Given the description of an element on the screen output the (x, y) to click on. 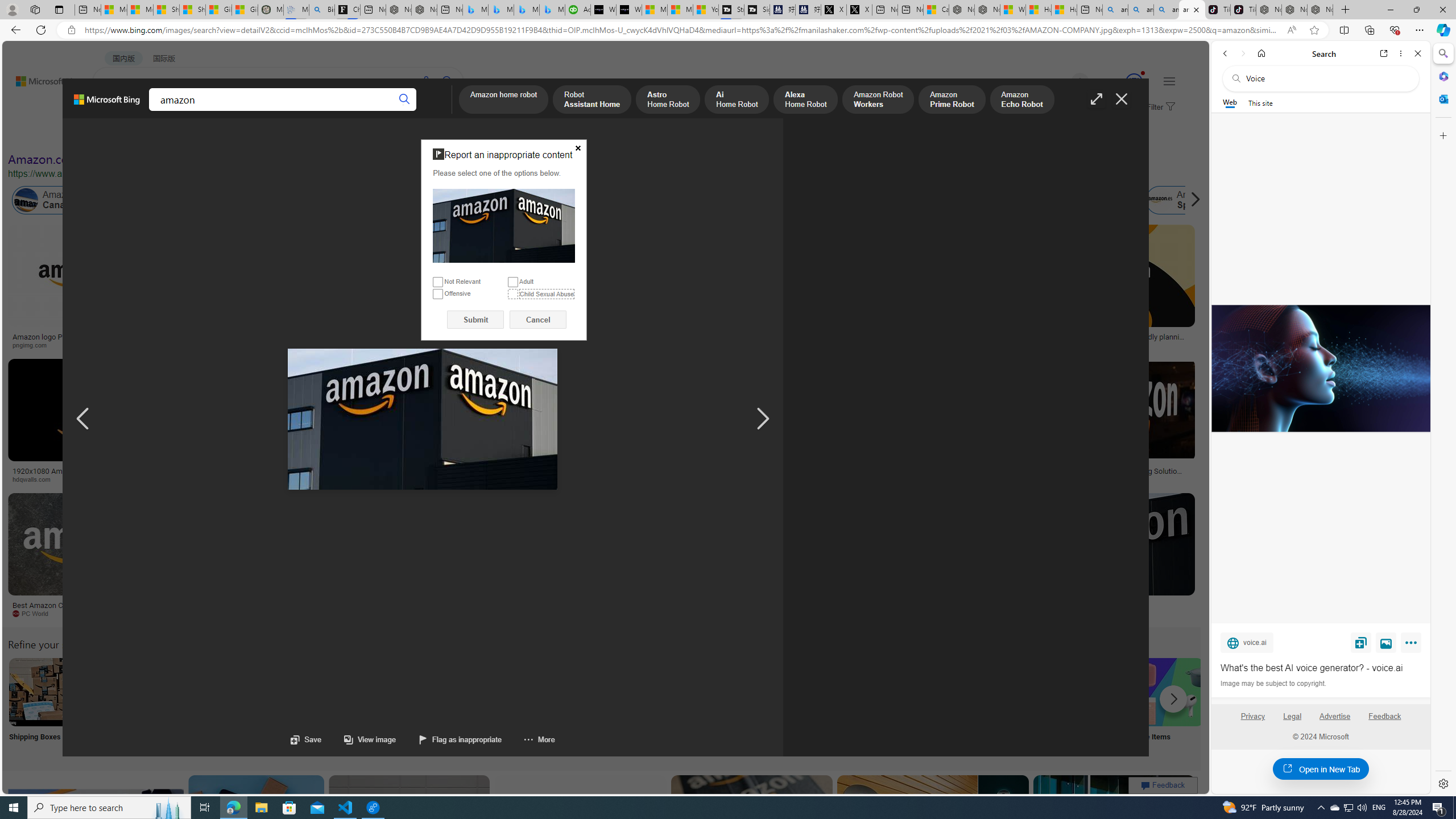
Amazon Online Shopping Homepage Online Shopping Homepage (868, 706)
Amazon Echo Robot (1022, 100)
Two Reasons Why Retailers Need to Leverage Amazon (224, 340)
Amazon Prime Shopping Online Prime Shopping Online (944, 706)
Long Island Press (628, 479)
Huge shark washes ashore at New York City beach | Watch (1063, 9)
Amazon India (508, 199)
Amazon Labor Law Violation in California (564, 200)
vecteezy.com (938, 479)
Amazon Mini TV Mini TV (794, 706)
Amazon Spain (1159, 200)
